Given the description of an element on the screen output the (x, y) to click on. 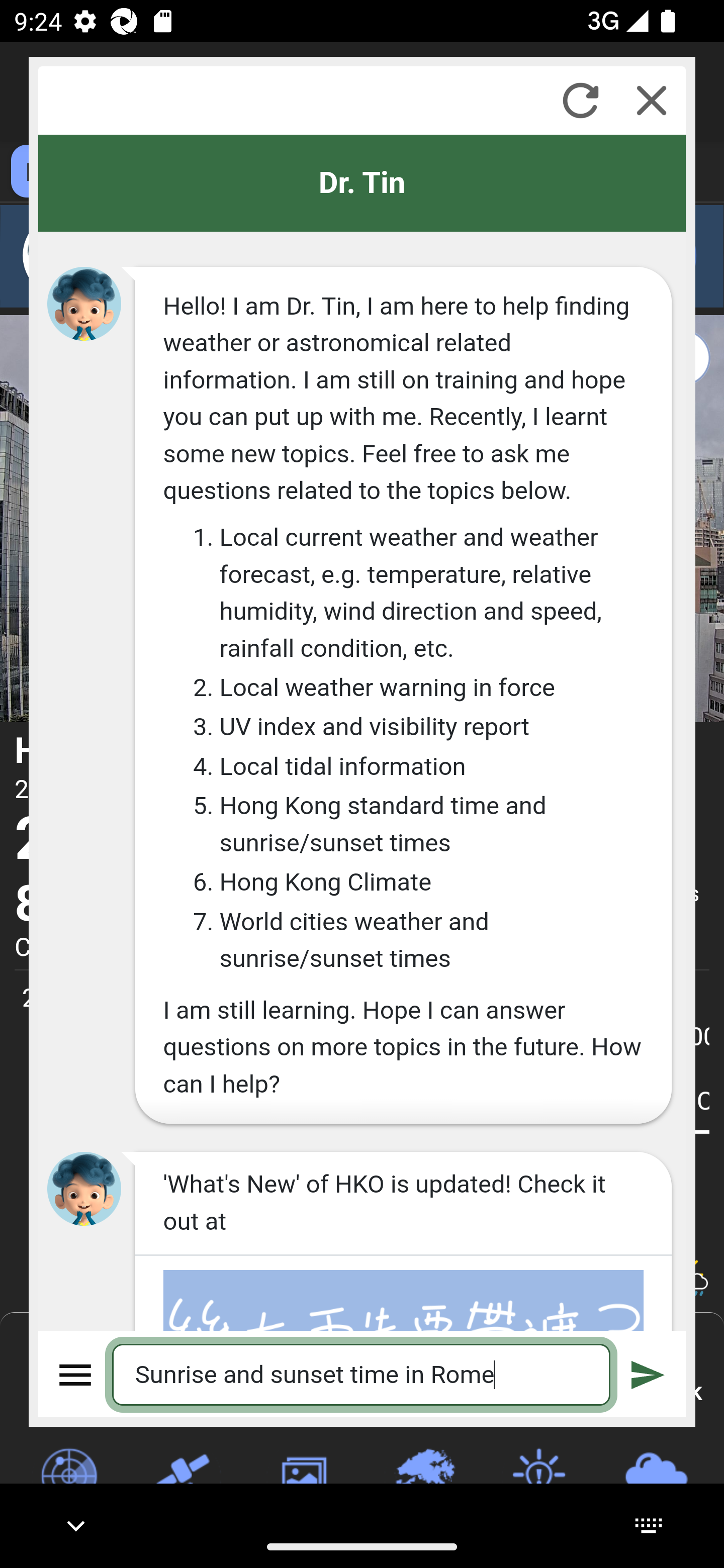
Refresh (580, 100)
Close (651, 100)
Menu (75, 1374)
Submit (648, 1374)
Sunrise and sunset time in Rome (361, 1374)
